Given the description of an element on the screen output the (x, y) to click on. 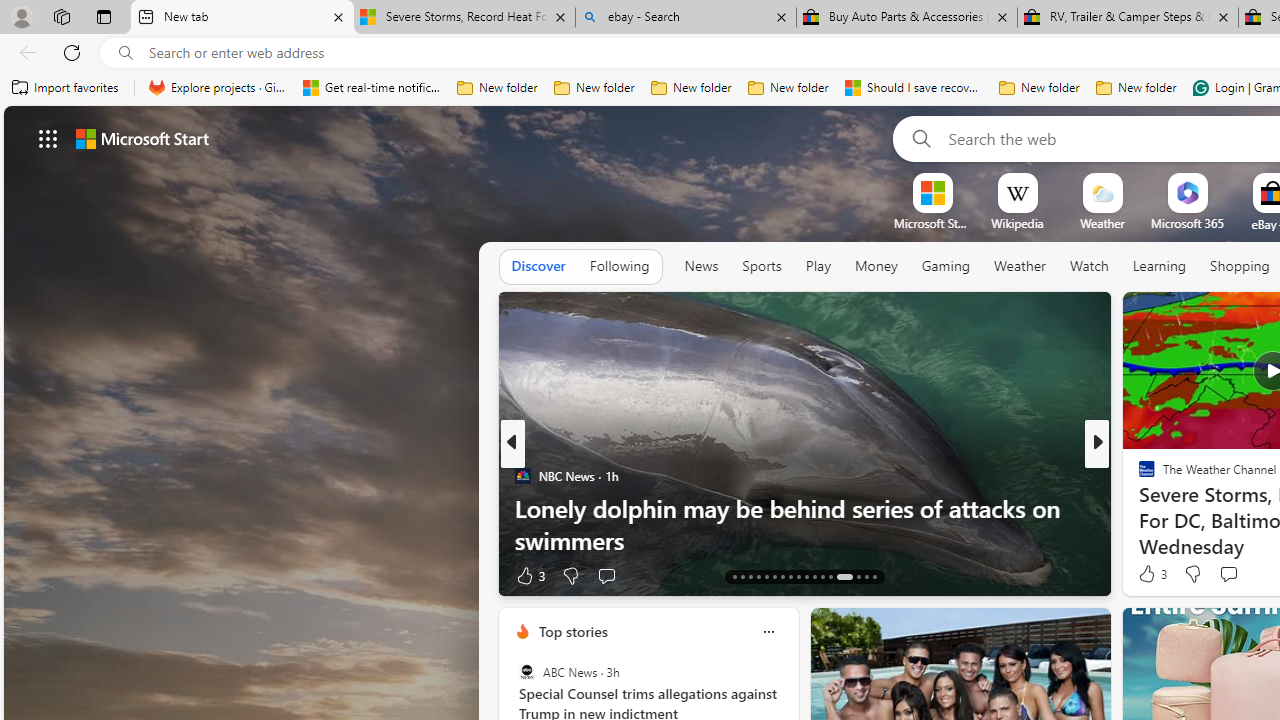
Shopping (1240, 265)
AutomationID: tab-22 (806, 576)
AutomationID: tab-29 (874, 576)
To get missing image descriptions, open the context menu. (932, 192)
More Options (1219, 179)
Buy Auto Parts & Accessories | eBay (907, 17)
Play (817, 265)
